Given the description of an element on the screen output the (x, y) to click on. 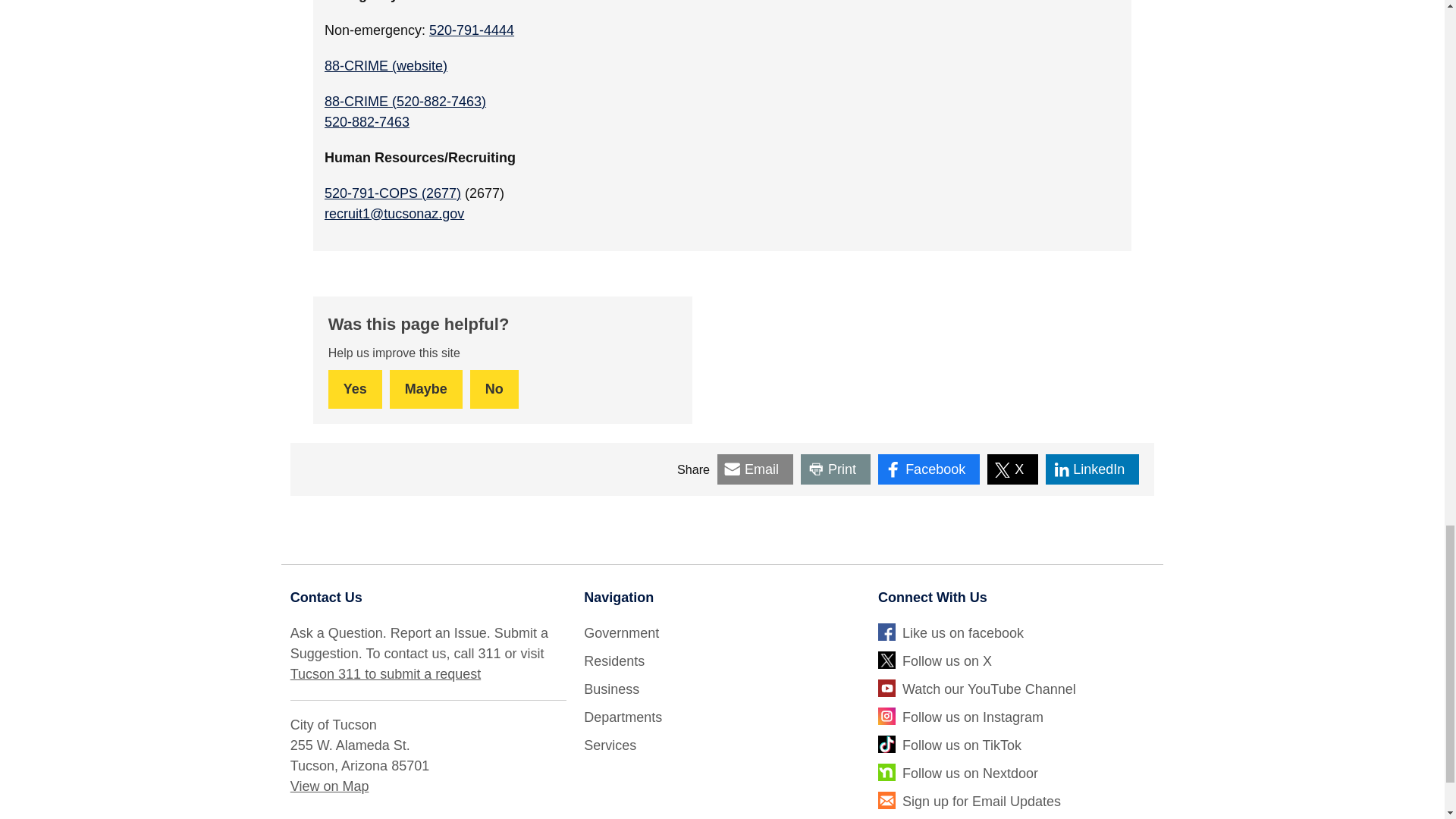
No, this page was not helpful (494, 389)
No (494, 389)
Yes, this page was helpful (355, 389)
Yes (355, 389)
Maybe (426, 389)
